Given the description of an element on the screen output the (x, y) to click on. 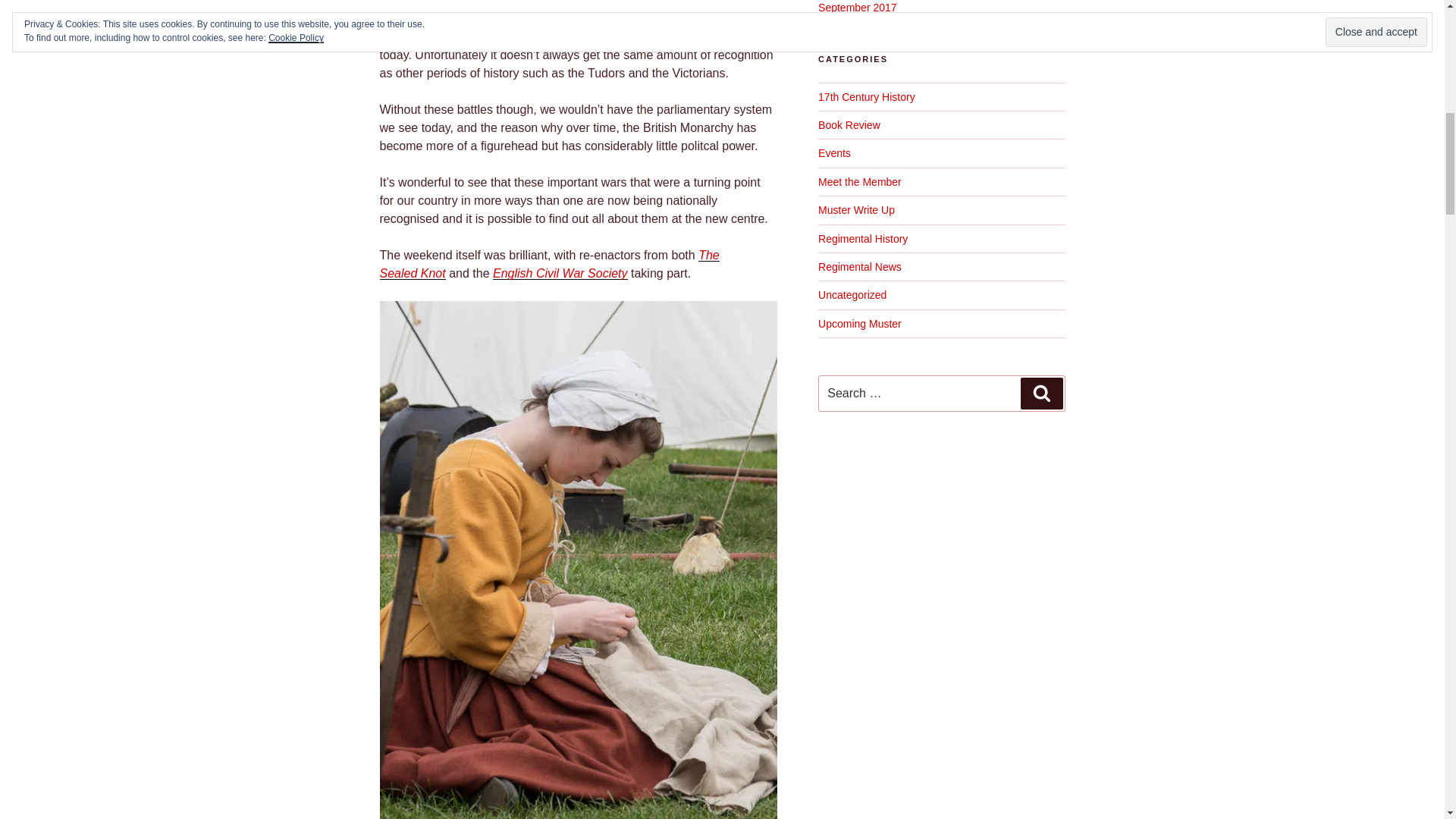
The Sealed Knot (548, 264)
English Civil War Society (560, 273)
